Given the description of an element on the screen output the (x, y) to click on. 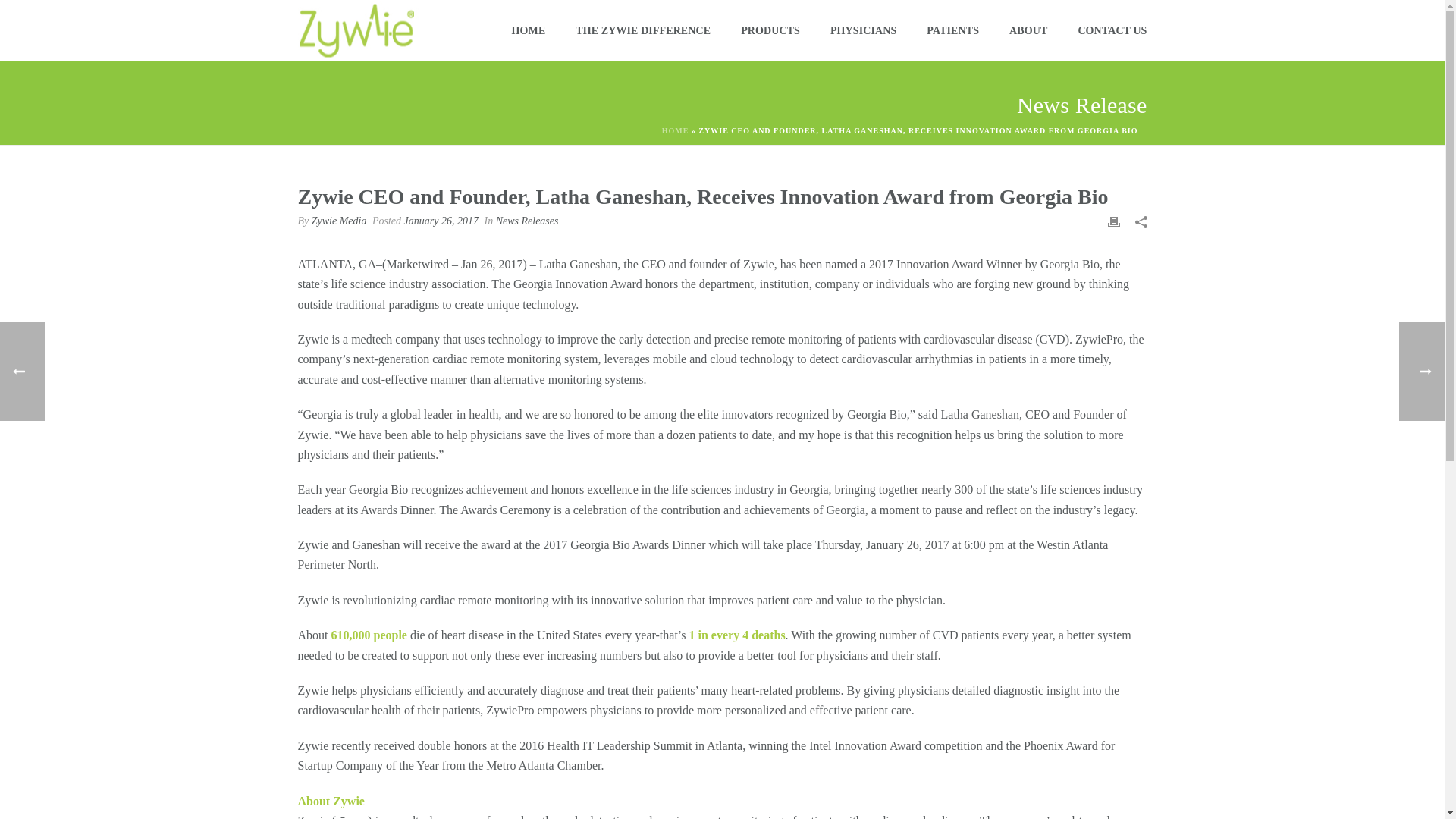
Posts by Zywie Media (338, 220)
PRODUCTS (770, 31)
PATIENTS (952, 31)
PRODUCTS (770, 31)
610,000 people (368, 634)
PHYSICIANS (863, 31)
Zywie (758, 264)
THE ZYWIE DIFFERENCE (642, 31)
HOME (528, 31)
ABOUT (1028, 31)
PATIENTS (952, 31)
CONTACT US (1111, 31)
HOME (528, 31)
CONTACT US (1111, 31)
ABOUT (1028, 31)
